Given the description of an element on the screen output the (x, y) to click on. 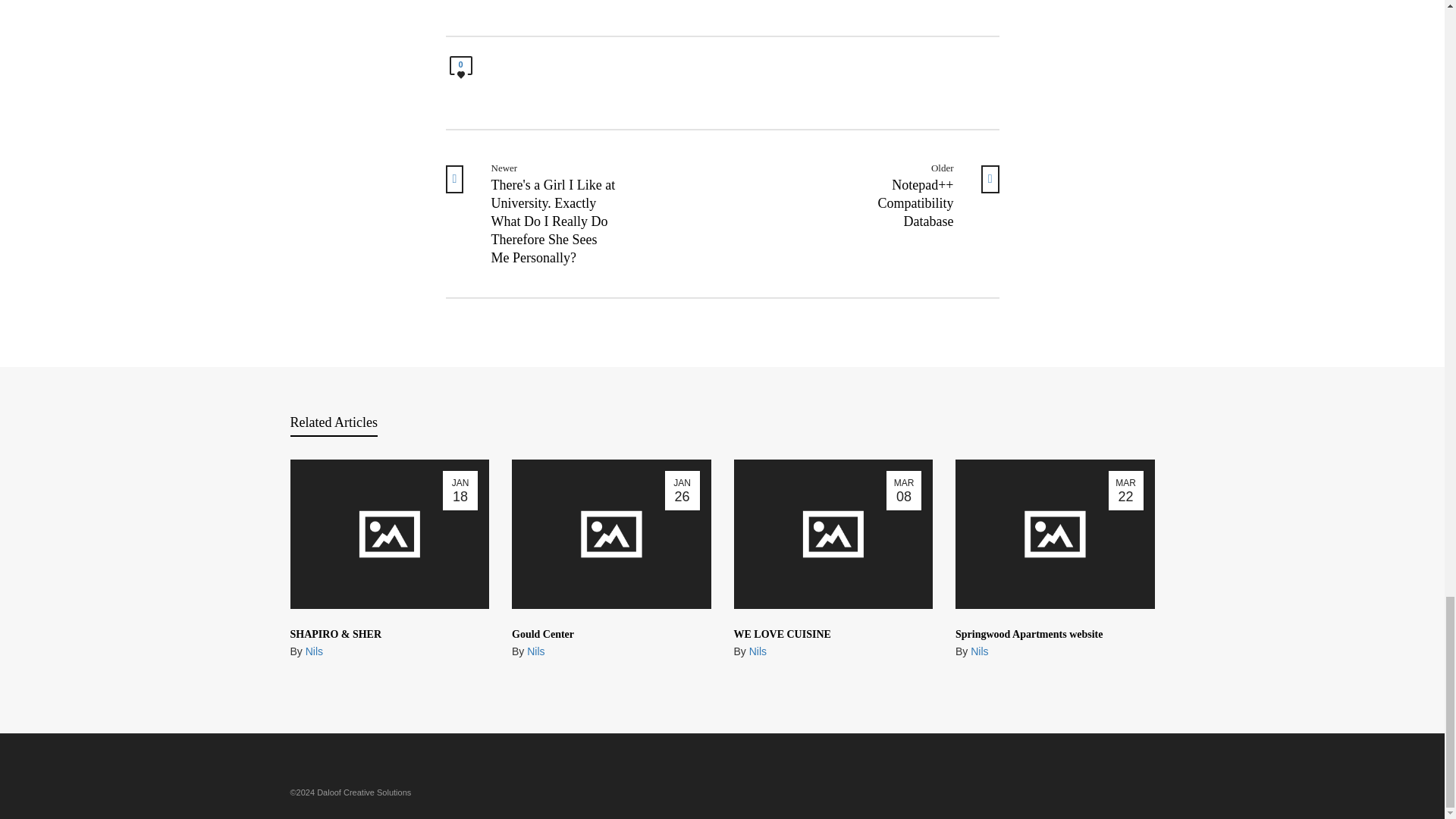
WE LOVE CUISINE (782, 633)
Springwood Apartments website (1028, 633)
Nils (979, 651)
Nils (314, 651)
Nils (535, 651)
Gould Center (542, 633)
Nils (758, 651)
